Given the description of an element on the screen output the (x, y) to click on. 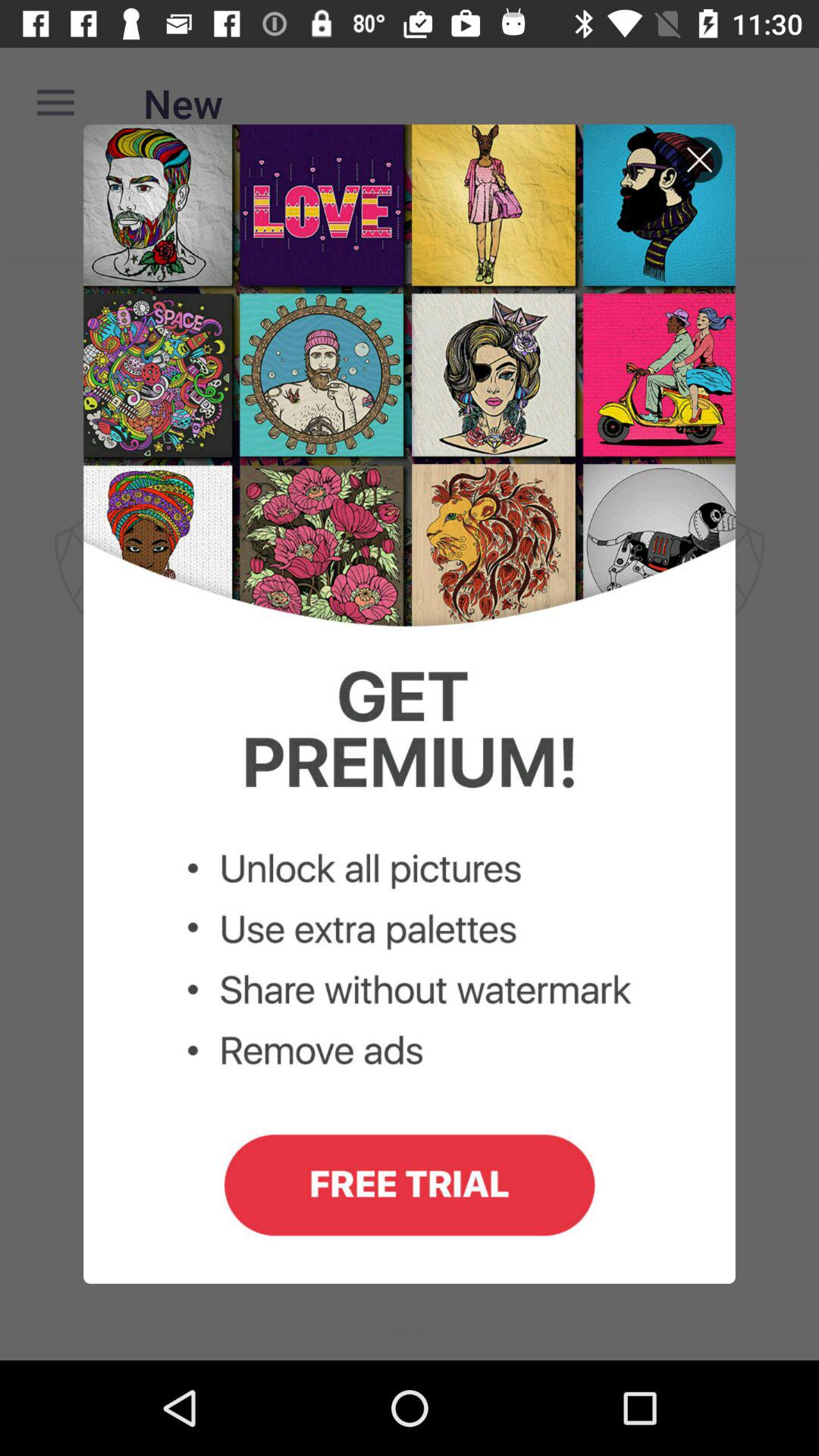
close (699, 159)
